Given the description of an element on the screen output the (x, y) to click on. 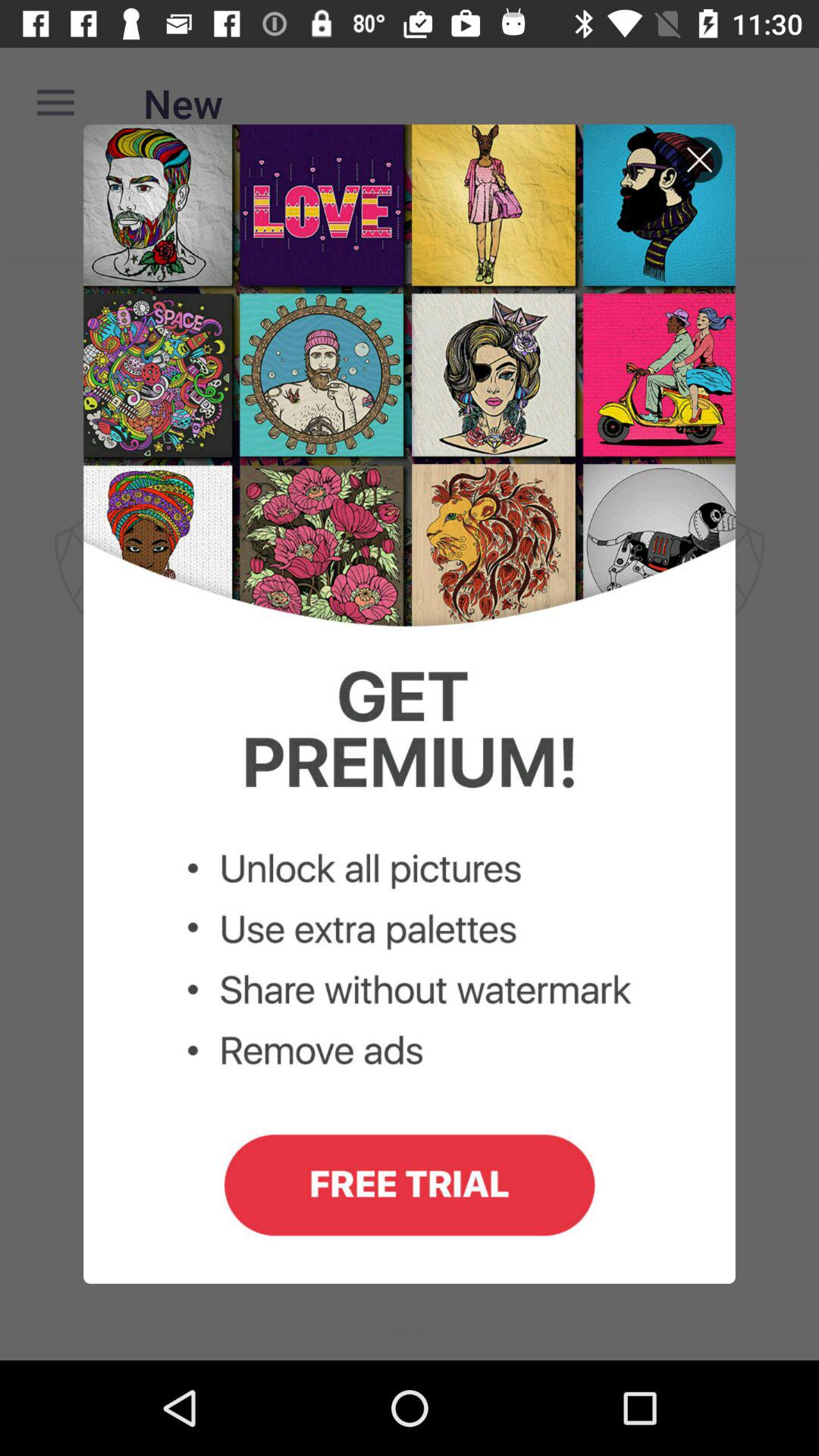
close (699, 159)
